Given the description of an element on the screen output the (x, y) to click on. 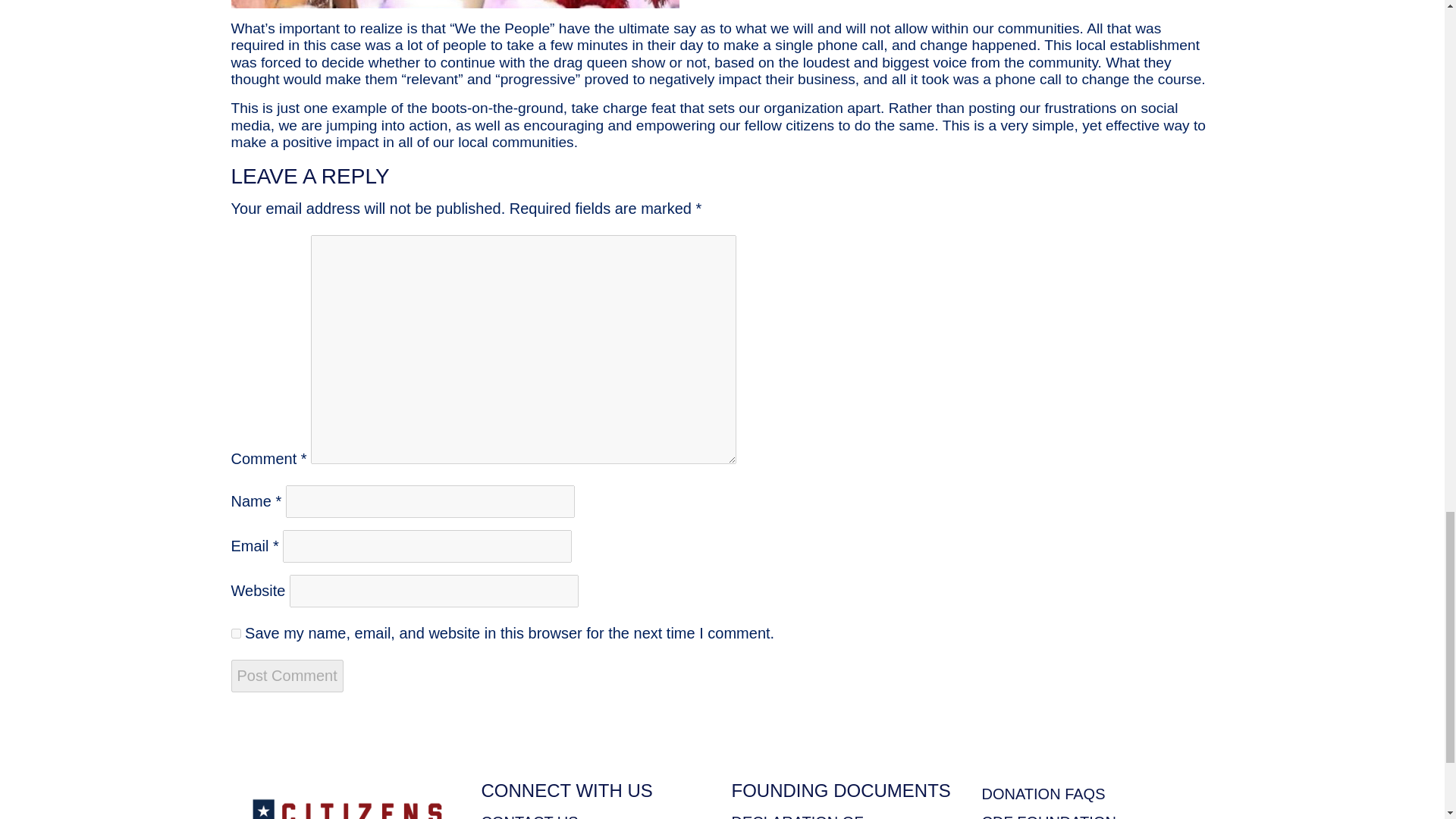
DECLARATION OF INDEPENDENCE (796, 816)
DONATION FAQS (1043, 793)
CDF Foundation (1048, 816)
Post Comment (286, 676)
Post Comment (286, 676)
CONTACT US (529, 816)
The Declaration of Independence (796, 816)
yes (235, 633)
CDF FOUNDATION (1048, 816)
